Given the description of an element on the screen output the (x, y) to click on. 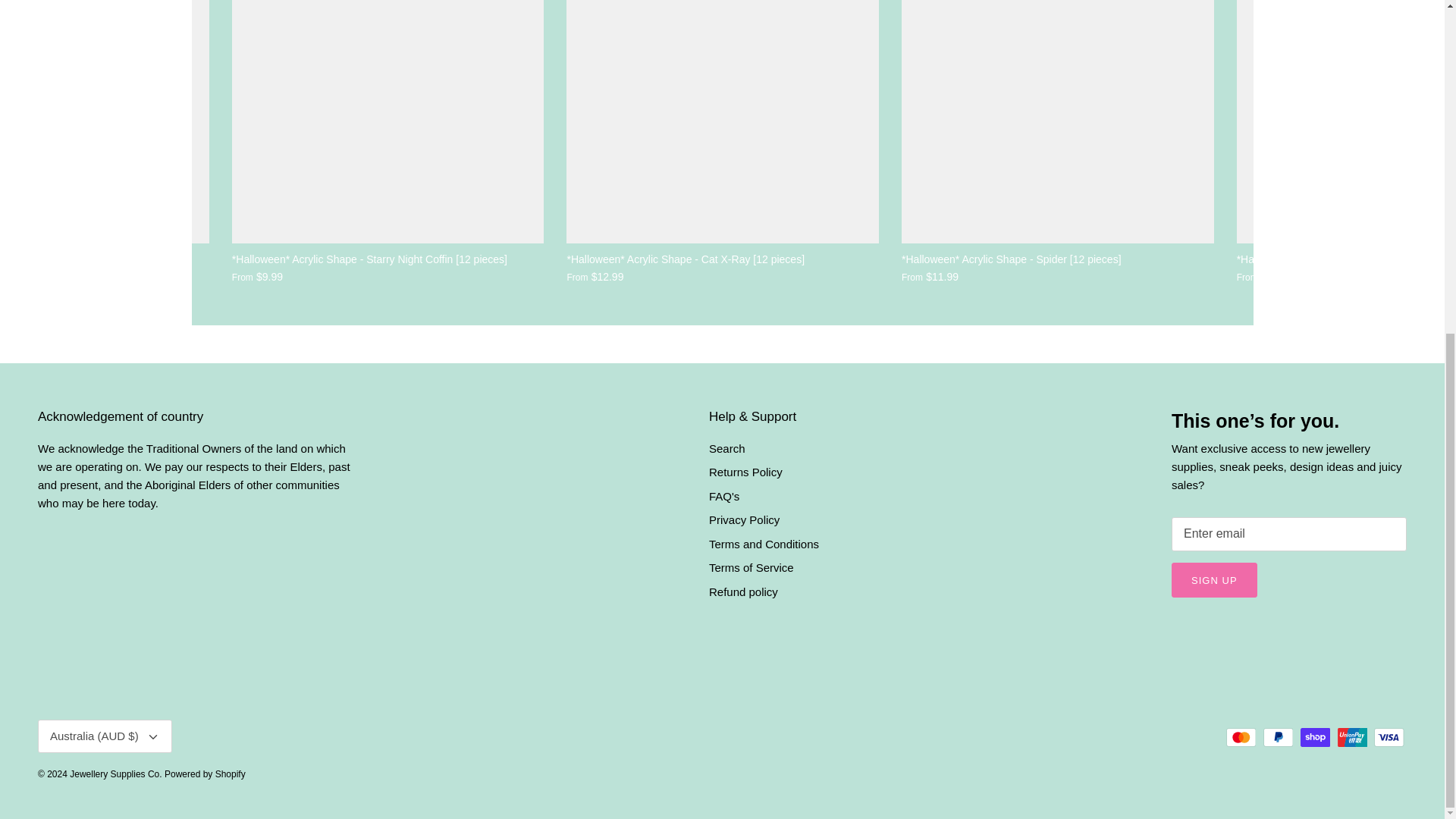
Down (153, 736)
Union Pay (1352, 737)
Shop Pay (1315, 737)
Visa (1388, 737)
Mastercard (1240, 737)
PayPal (1277, 737)
